Given the description of an element on the screen output the (x, y) to click on. 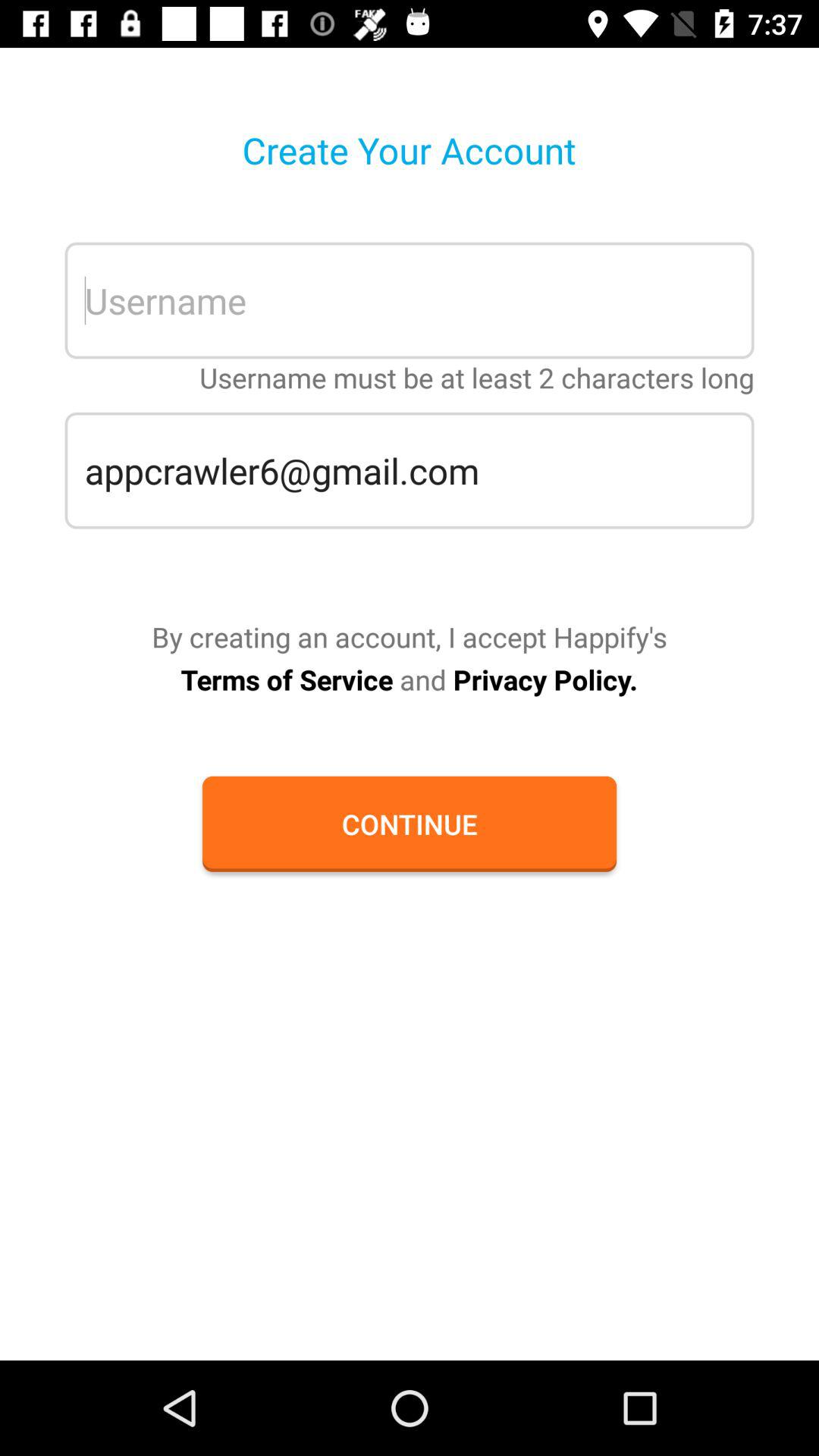
flip until the terms of service item (408, 679)
